Given the description of an element on the screen output the (x, y) to click on. 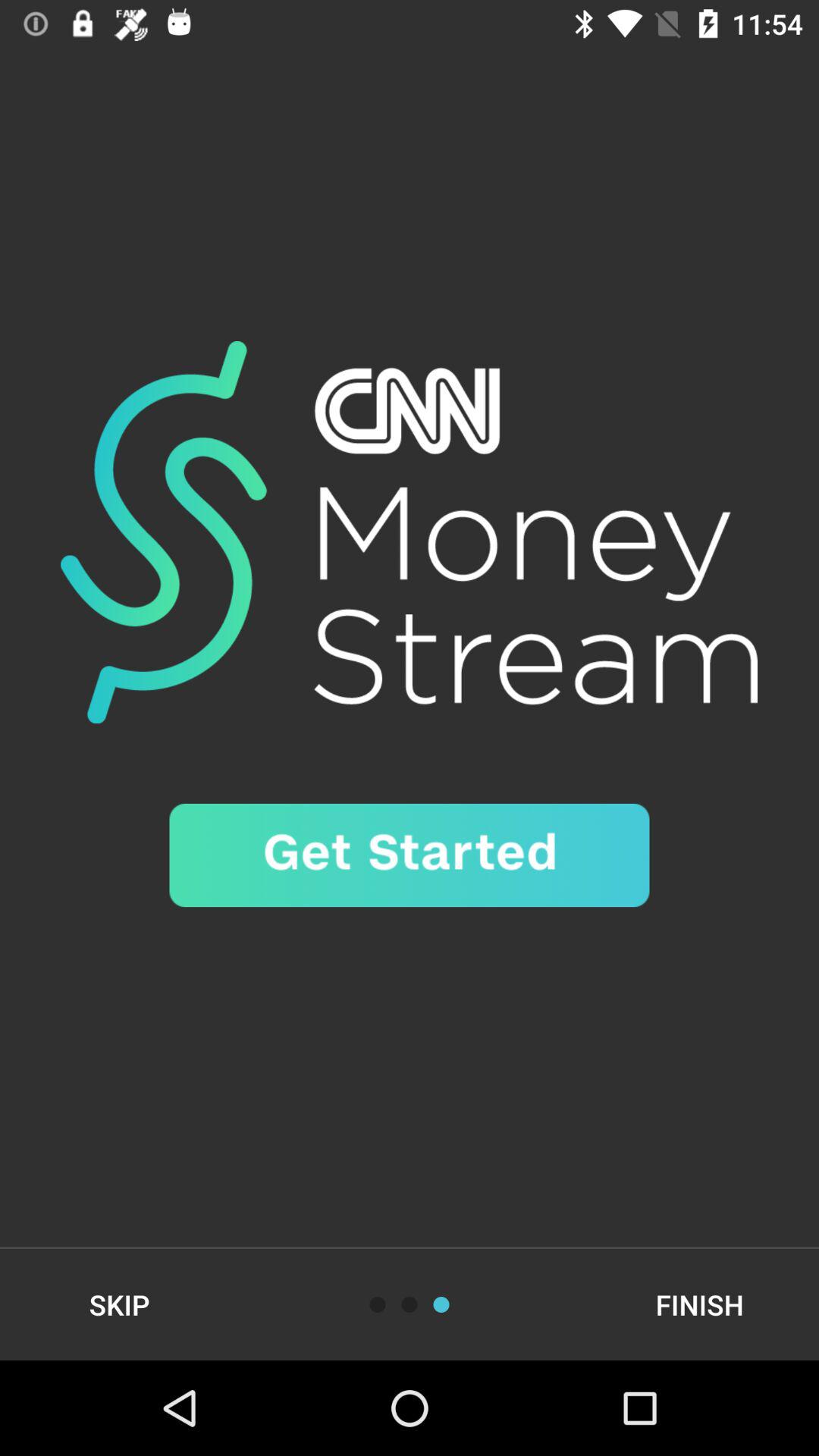
press skip icon (119, 1304)
